Given the description of an element on the screen output the (x, y) to click on. 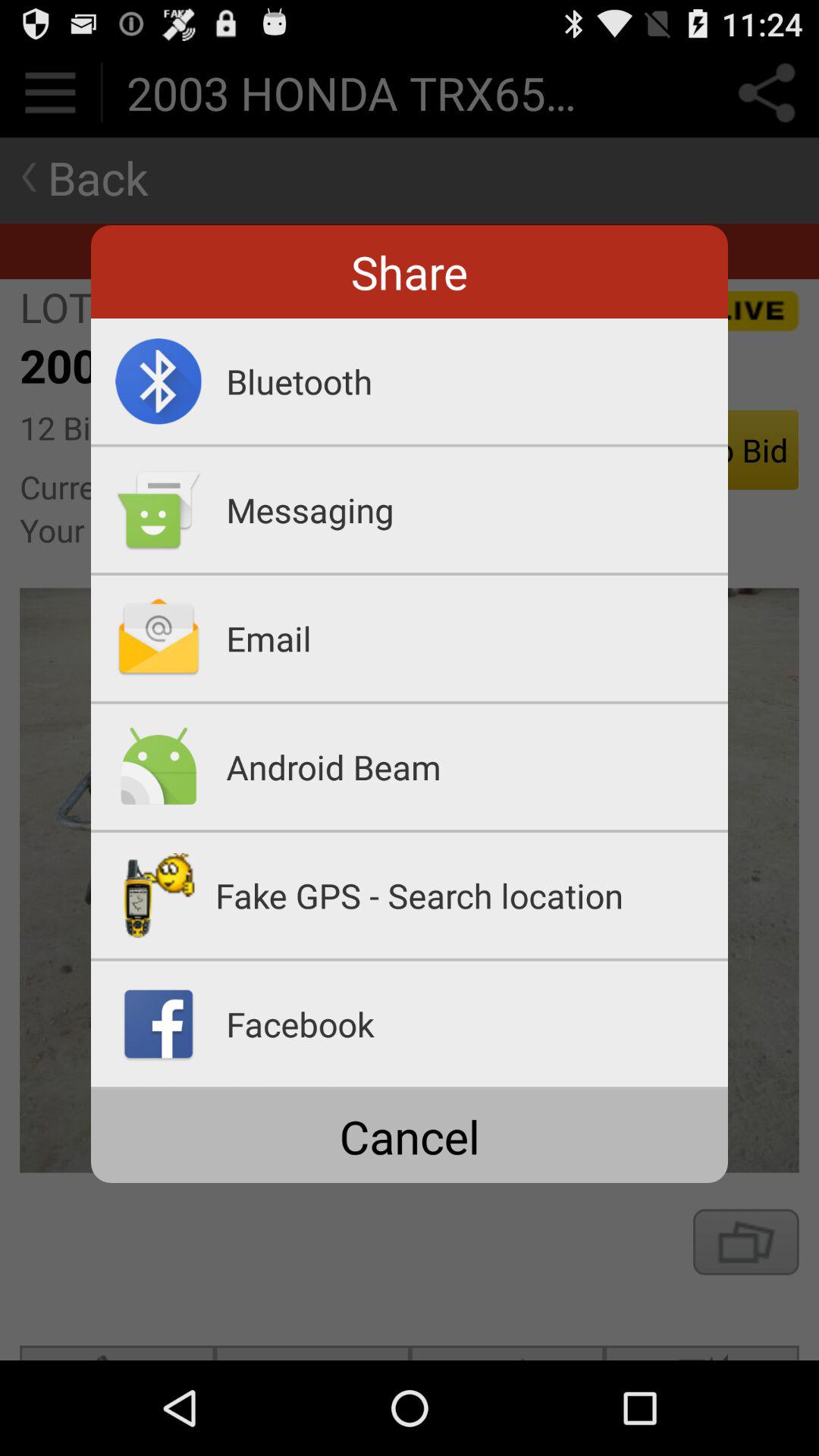
swipe until the cancel icon (409, 1136)
